Given the description of an element on the screen output the (x, y) to click on. 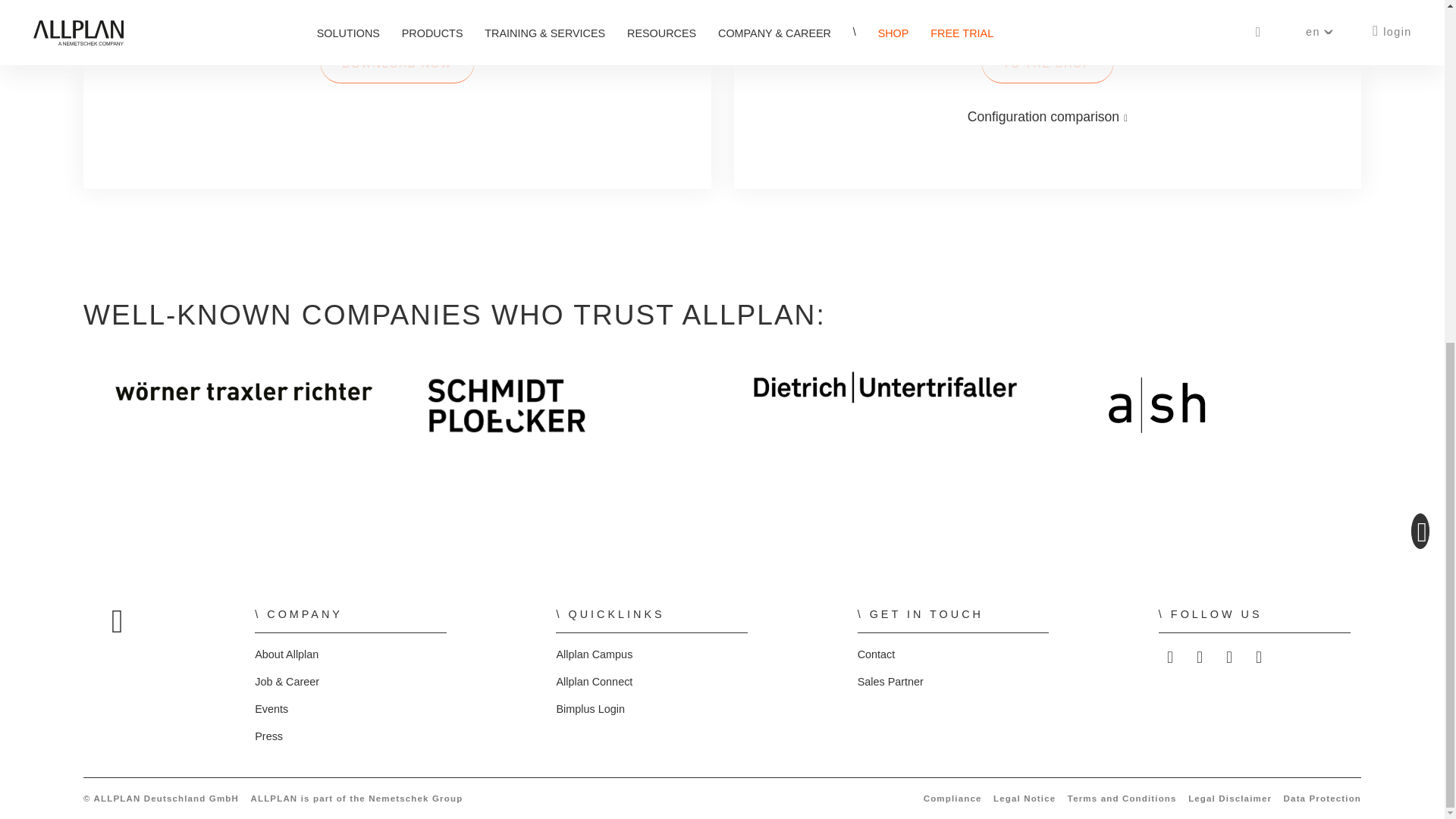
Nemetschek Group (415, 798)
